Given the description of an element on the screen output the (x, y) to click on. 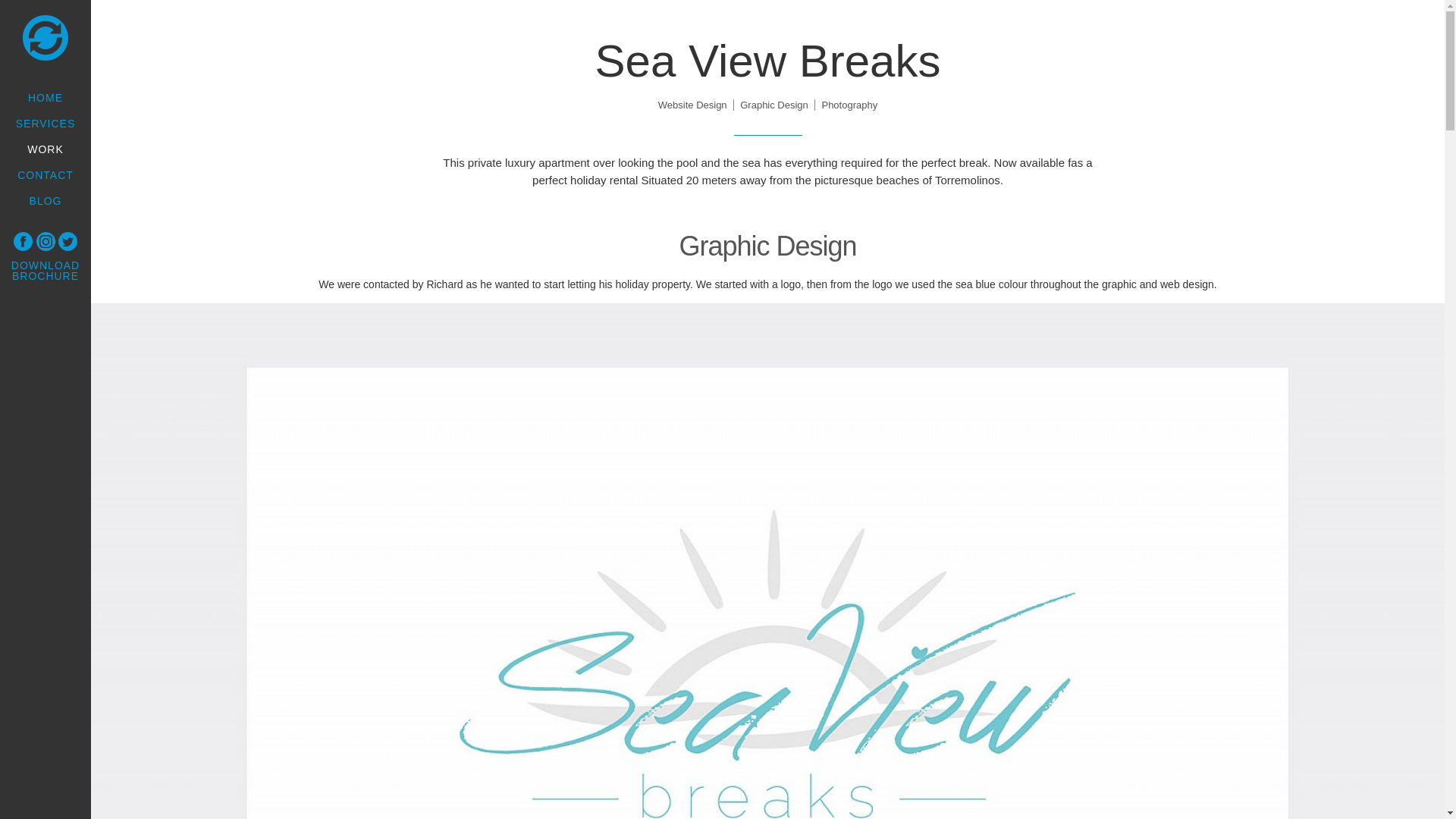
Contact Sync'd Design Huddersfield (45, 175)
WORK (45, 149)
Syncd Design Huddersfield Home Page (45, 37)
Web and Graphic design work portfolio (45, 149)
SERVICES (45, 123)
SYNC'D DESIGN DRIBBBLE (45, 240)
SYNC'D DESIGN TWITTER (67, 240)
BLOG (45, 200)
Sync'd Design Home (45, 97)
CONTACT (45, 175)
Latest News (45, 200)
SYNC'D DESIGN FACEBOOK (22, 240)
Download Brochure (45, 270)
Huddersfield Digital Design Services (45, 123)
HOME (45, 97)
